Given the description of an element on the screen output the (x, y) to click on. 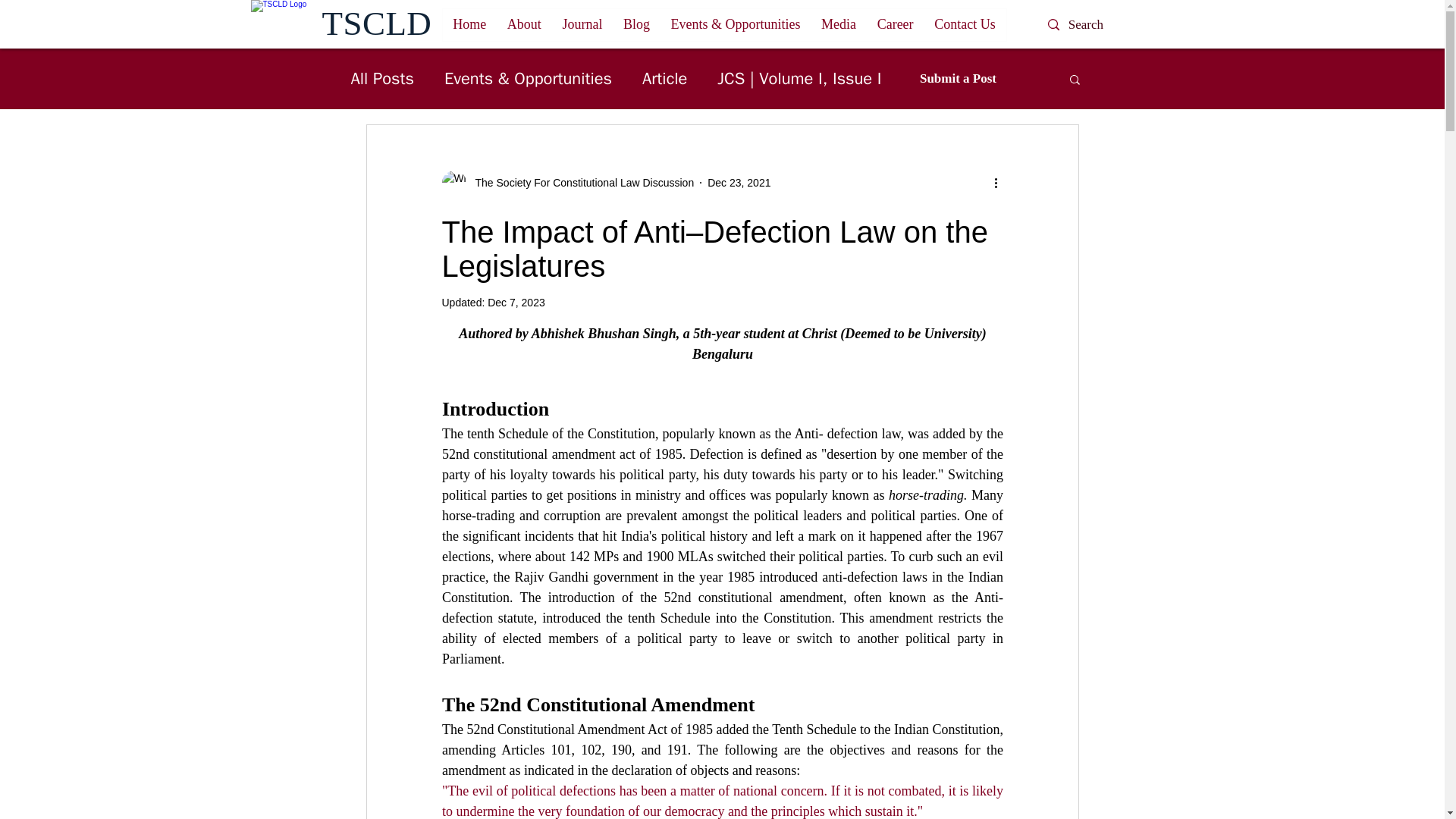
Career (895, 24)
The Society For Constitutional Law Discussion (567, 182)
The Society For Constitutional Law Discussion (579, 182)
Article (664, 78)
Blog (636, 24)
Journal (581, 24)
TSCLD (375, 23)
Dec 7, 2023 (515, 302)
Media (838, 24)
All Posts (381, 78)
